Given the description of an element on the screen output the (x, y) to click on. 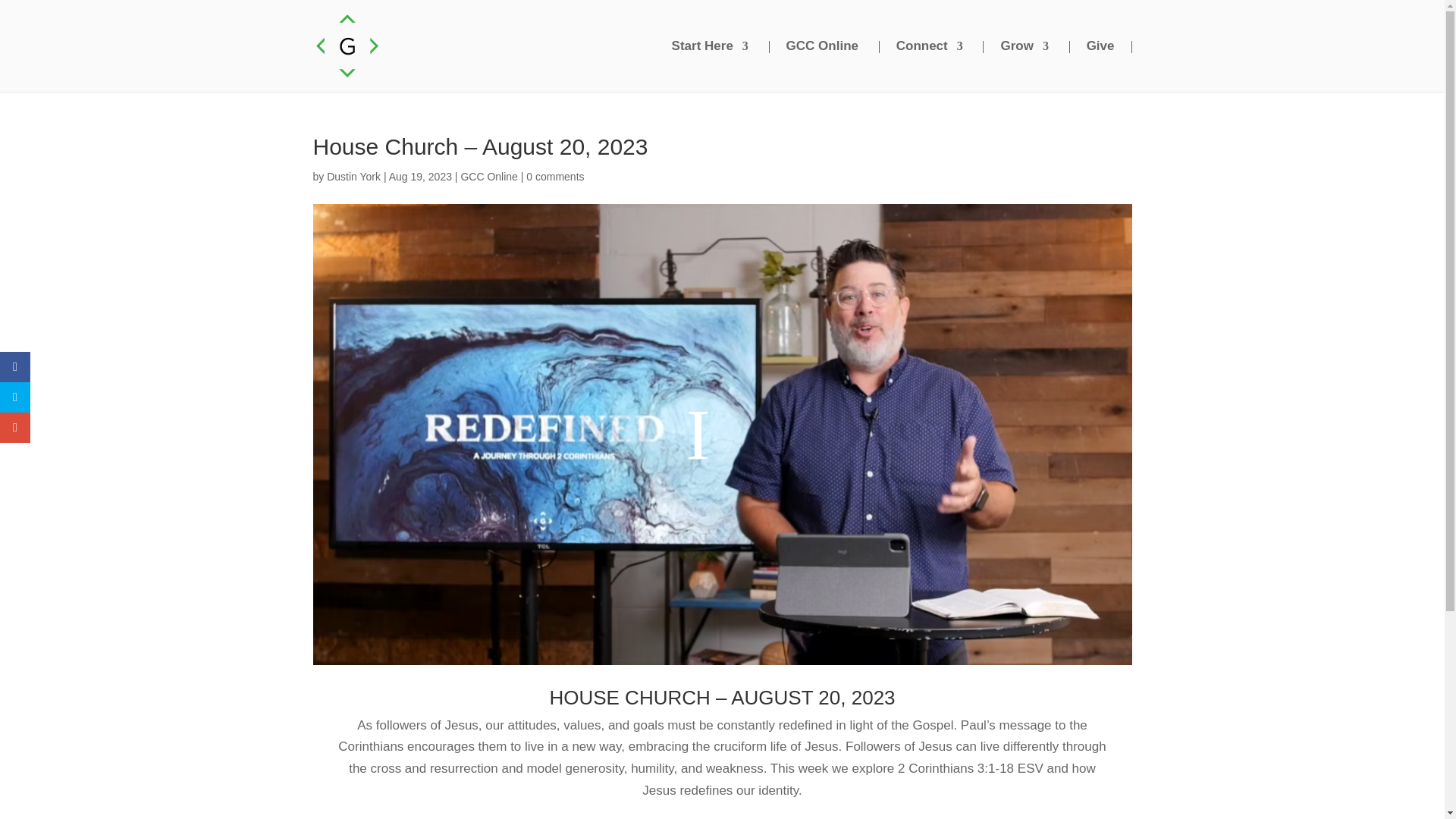
Grow (1015, 46)
Connect (920, 46)
GCC Online (813, 46)
Posts by Dustin York (353, 176)
Give (1100, 46)
Dustin York (353, 176)
Start Here (701, 46)
